Given the description of an element on the screen output the (x, y) to click on. 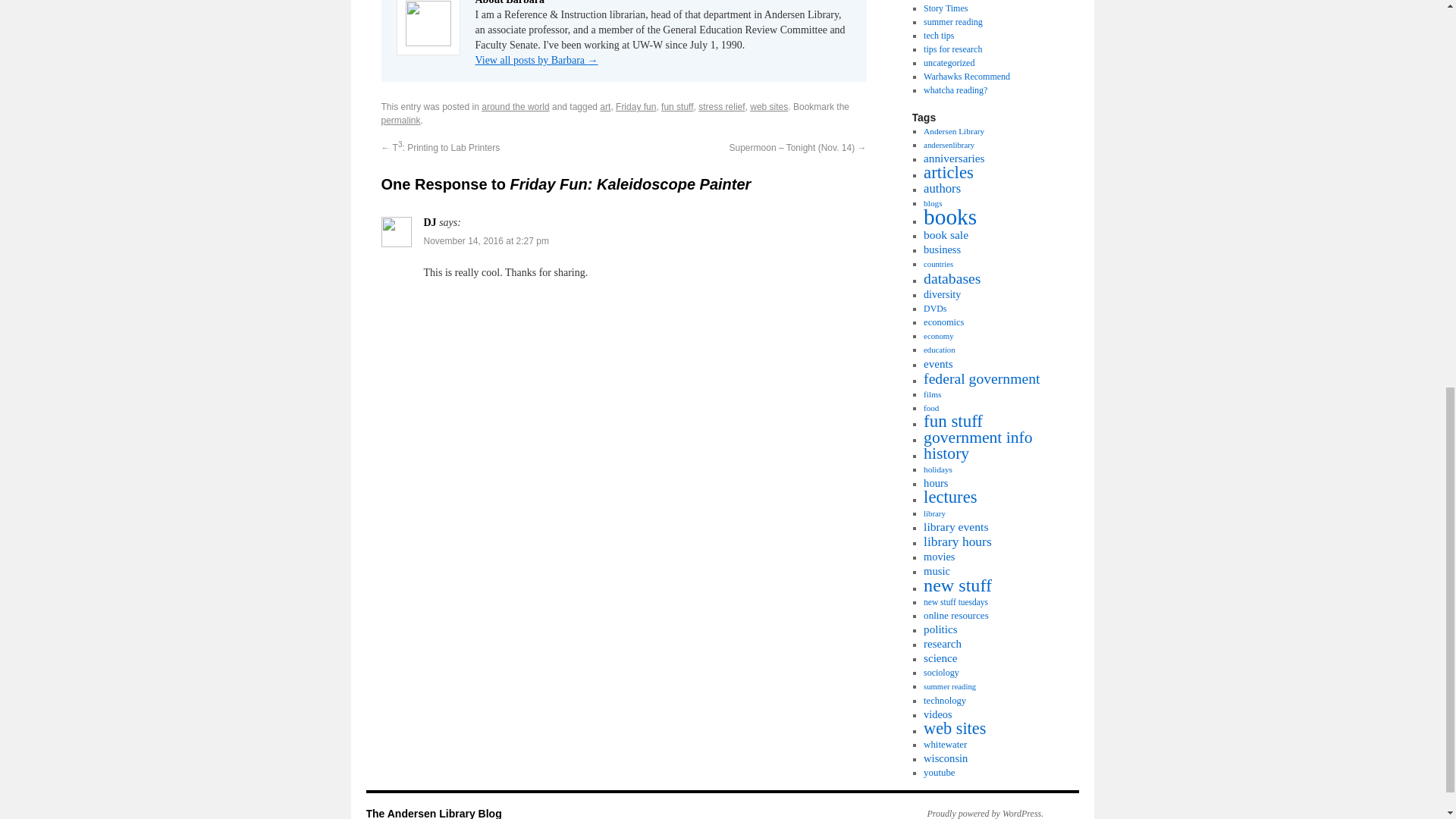
Permalink to Friday Fun: Kaleidoscope Painter (400, 120)
art (604, 106)
stress relief (721, 106)
permalink (400, 120)
fun stuff (677, 106)
web sites (768, 106)
around the world (514, 106)
Friday fun (635, 106)
November 14, 2016 at 2:27 pm (485, 240)
